Given the description of an element on the screen output the (x, y) to click on. 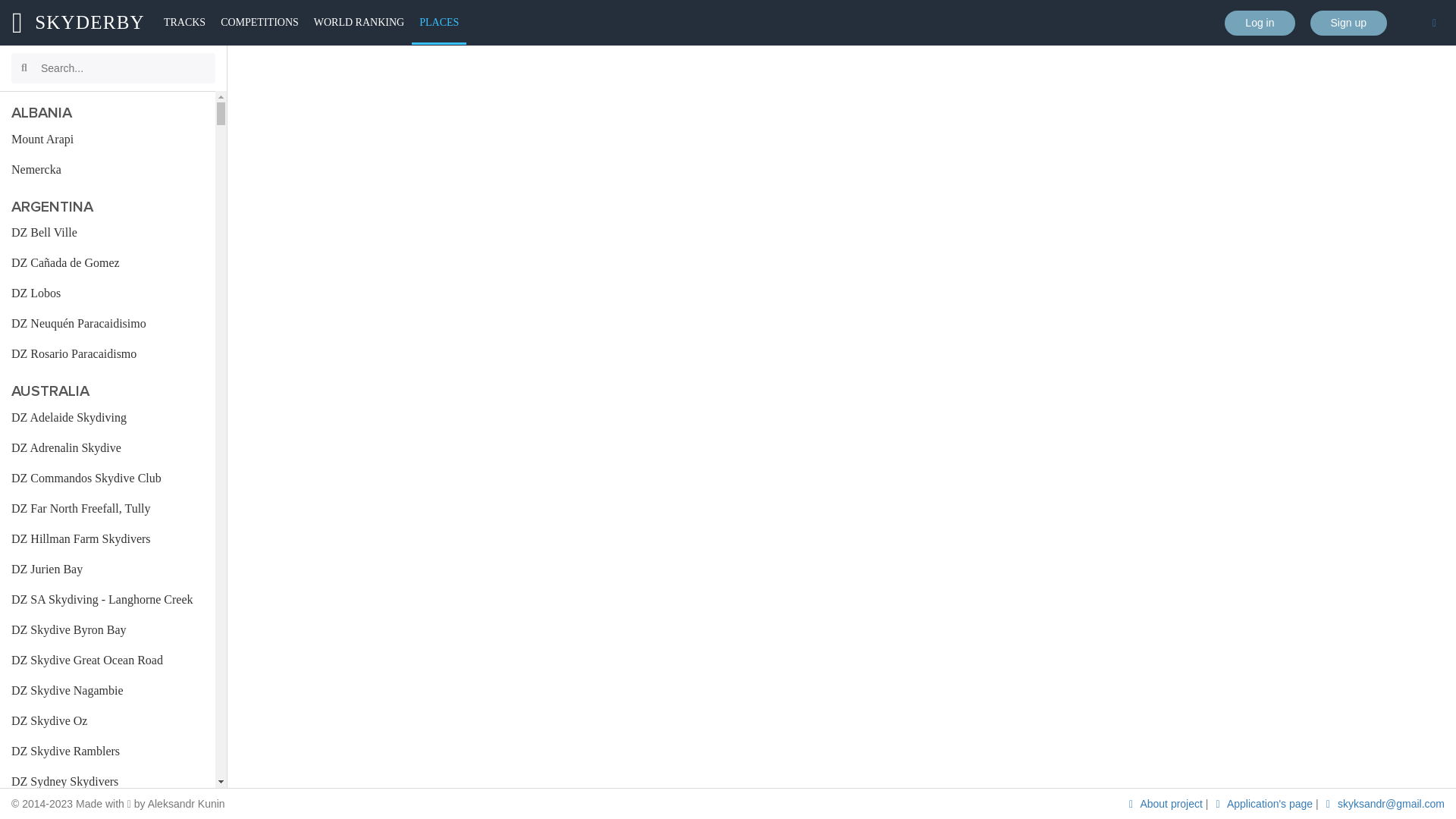
DZ Sydney Skydivers Element type: text (107, 781)
Log in Element type: text (1259, 22)
DZ Lobos Element type: text (107, 293)
Nemercka Element type: text (107, 169)
DZ Skydive Ramblers Element type: text (107, 751)
Application's page Element type: text (1263, 803)
skyksandr@gmail.com Element type: text (1382, 803)
DZ Adelaide Skydiving Element type: text (107, 417)
DZ Hillman Farm Skydivers Element type: text (107, 539)
Sign up Element type: text (1348, 22)
Mount Arapi Element type: text (107, 139)
DZ Skydive Byron Bay Element type: text (107, 630)
DZ SA Skydiving - Langhorne Creek Element type: text (107, 599)
DZ Commandos Skydive Club Element type: text (107, 478)
TRACKS Element type: text (184, 22)
DZ Skydive Great Ocean Road Element type: text (107, 660)
DZ Rosario Paracaidismo Element type: text (107, 353)
DZ Bell Ville Element type: text (107, 232)
DZ Skydive Nagambie Element type: text (107, 690)
DZ Skydive Oz Element type: text (107, 721)
DZ Jurien Bay Element type: text (107, 569)
DZ Far North Freefall, Tully Element type: text (107, 508)
COMPETITIONS Element type: text (259, 22)
PLACES Element type: text (438, 22)
SKYDERBY Element type: text (78, 22)
DZ Adrenalin Skydive Element type: text (107, 448)
WORLD RANKING Element type: text (358, 22)
About project Element type: text (1164, 803)
